Given the description of an element on the screen output the (x, y) to click on. 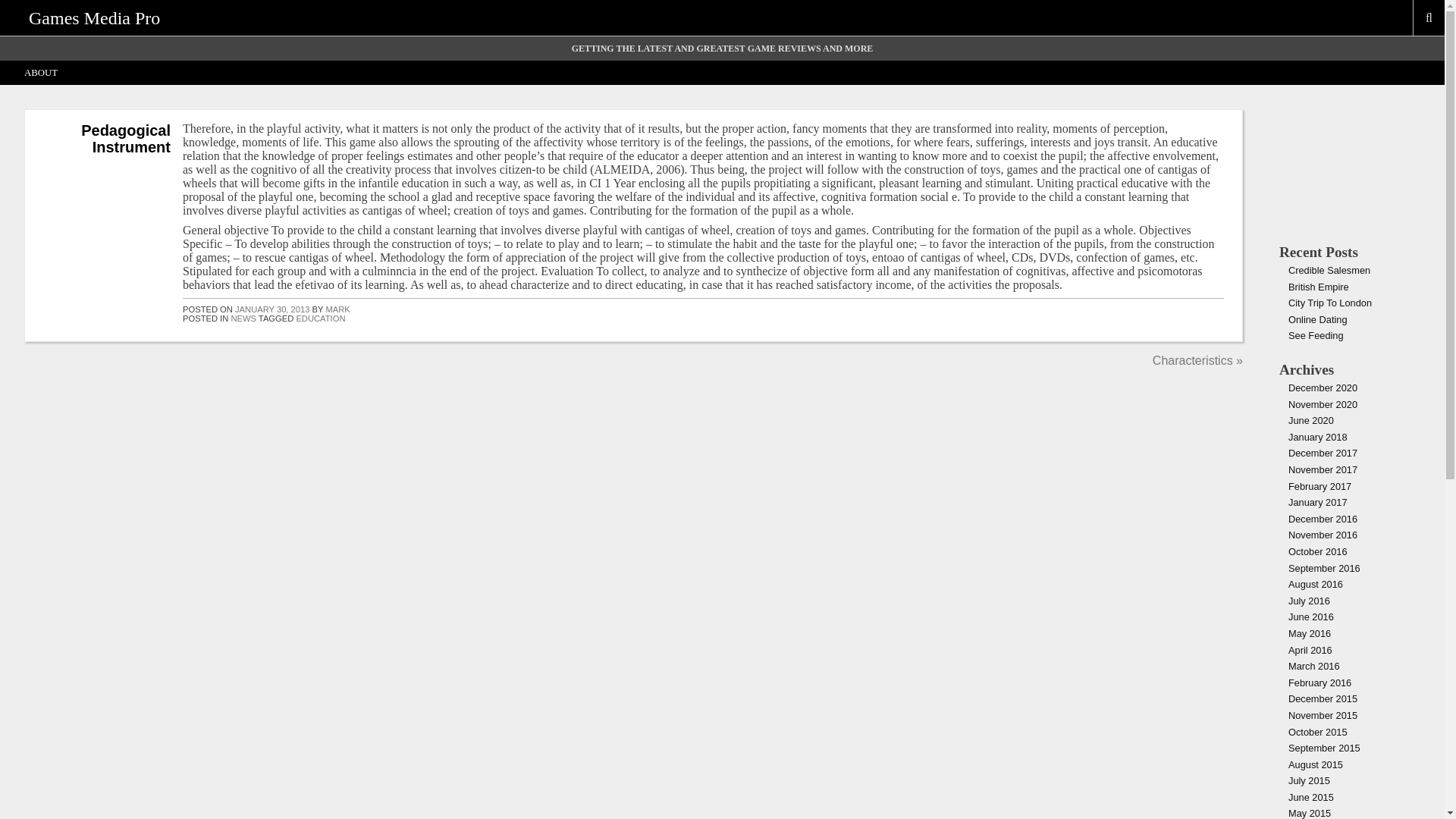
Credible Salesmen (1329, 270)
See Feeding (1315, 335)
EDUCATION (320, 317)
December 2020 (1322, 387)
September 2016 (1323, 568)
January 2017 (1318, 501)
ABOUT (41, 72)
October 2016 (1318, 551)
November 2020 (1322, 404)
April 2016 (1310, 650)
